Given the description of an element on the screen output the (x, y) to click on. 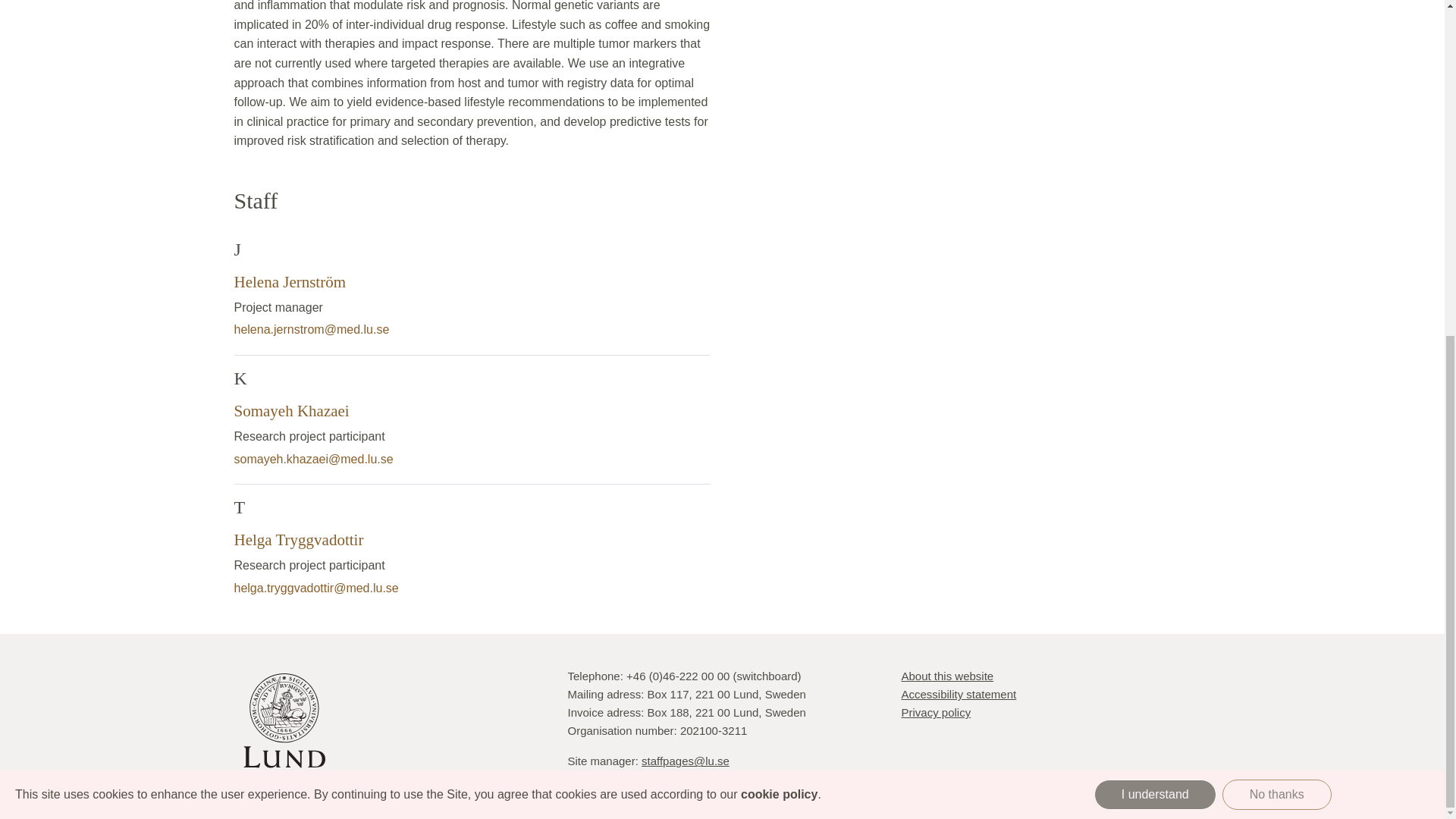
I understand (1154, 231)
No thanks (1277, 231)
cookie policy (778, 230)
